Given the description of an element on the screen output the (x, y) to click on. 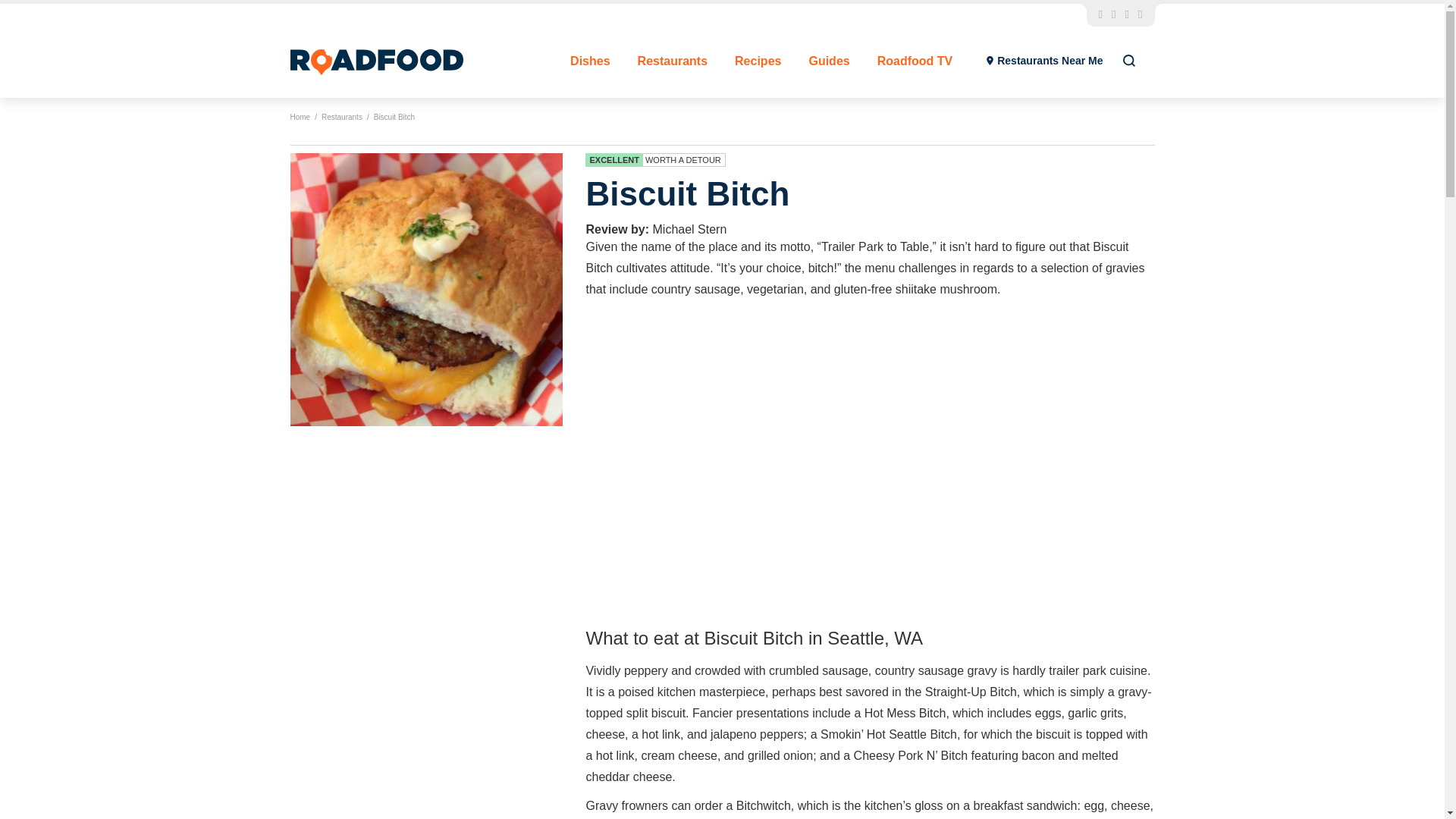
Roadfood TV (915, 60)
Dishes (590, 60)
Michael Stern (689, 228)
Go to Restaurants. (341, 117)
Go to Roadfood. (299, 117)
Restaurants Near Me (1044, 60)
Restaurants (672, 60)
Home (299, 117)
Guides (828, 60)
Recipes (757, 60)
